Given the description of an element on the screen output the (x, y) to click on. 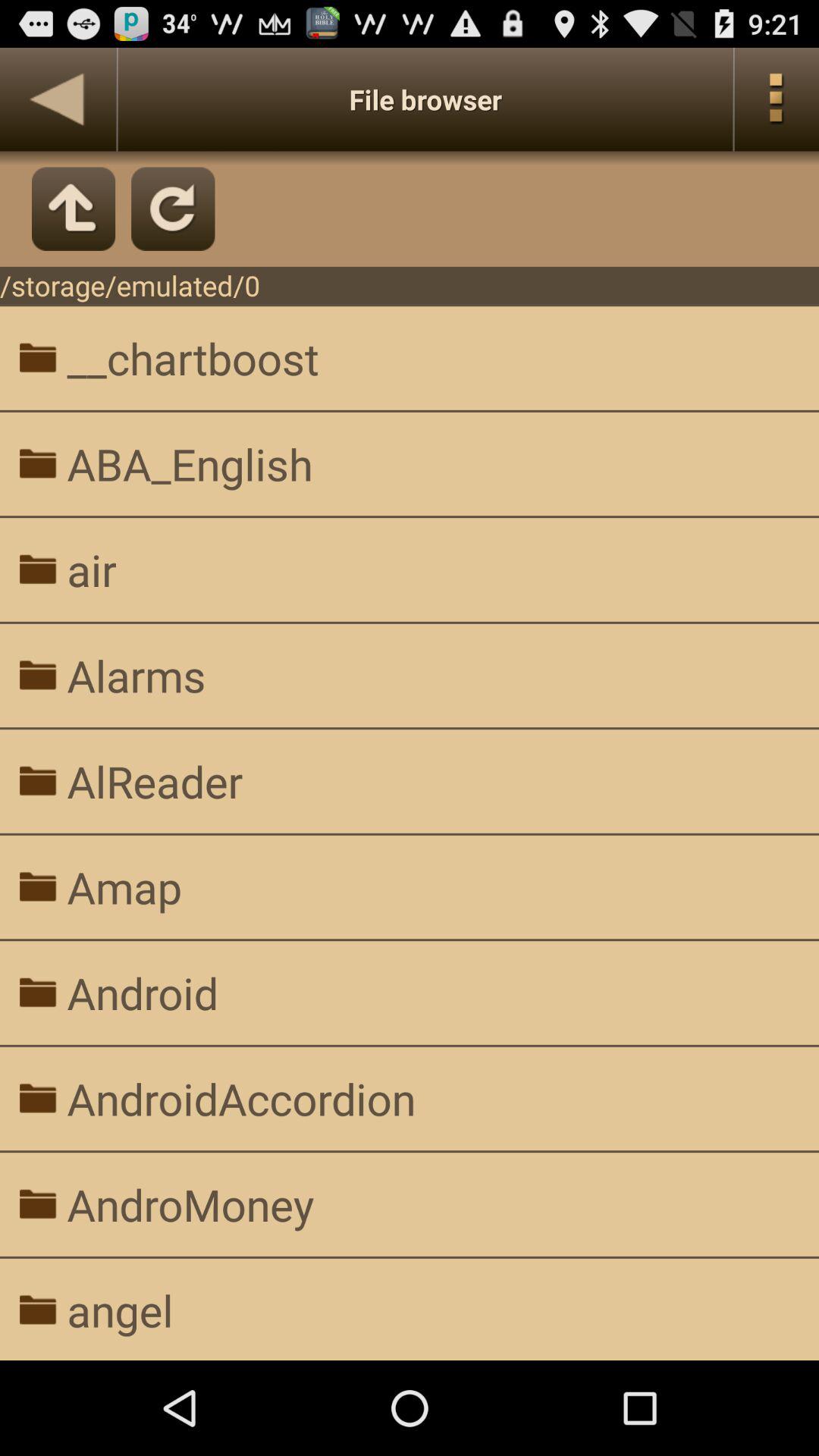
go back (58, 99)
